Given the description of an element on the screen output the (x, y) to click on. 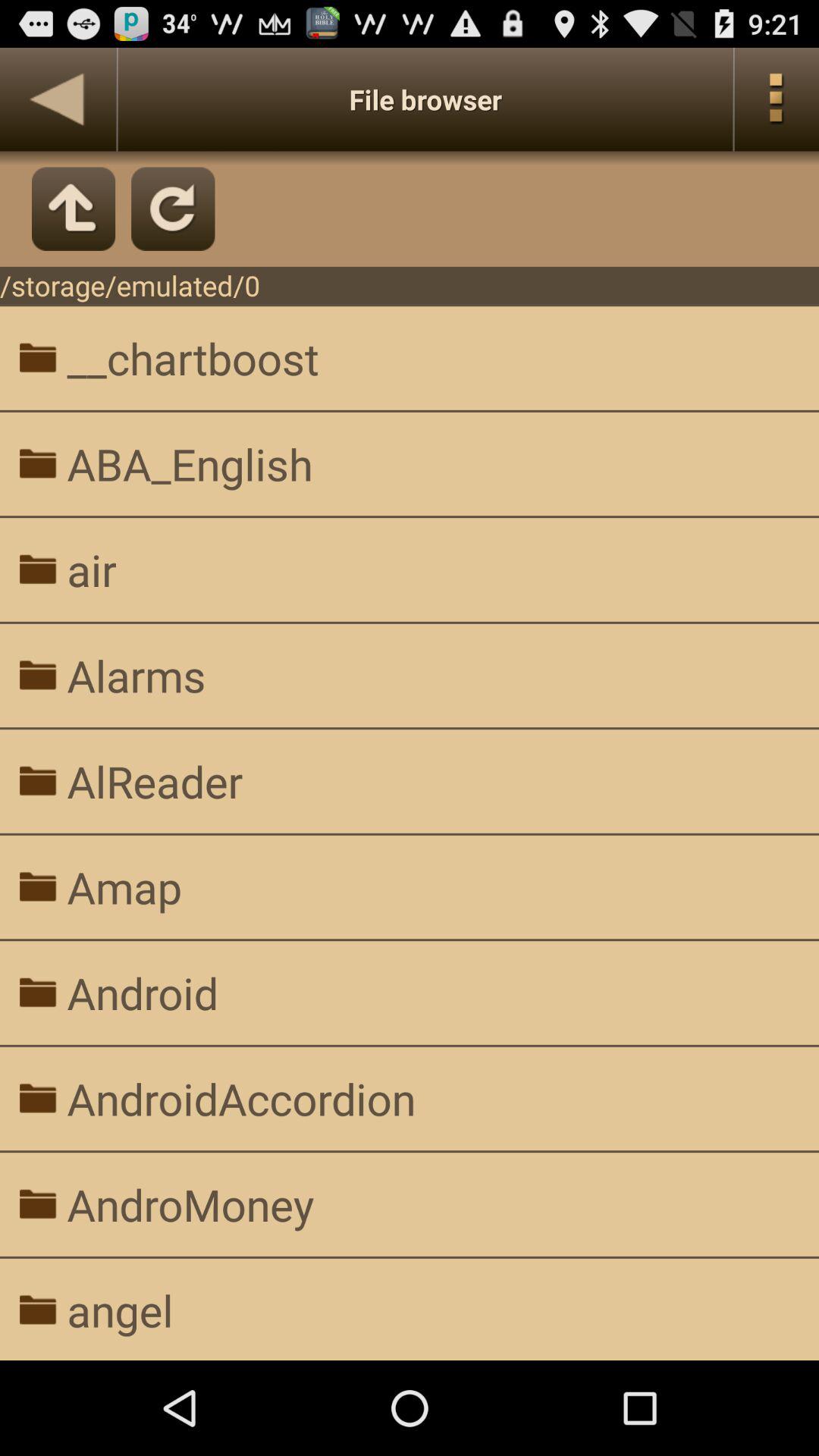
go back (58, 99)
